Given the description of an element on the screen output the (x, y) to click on. 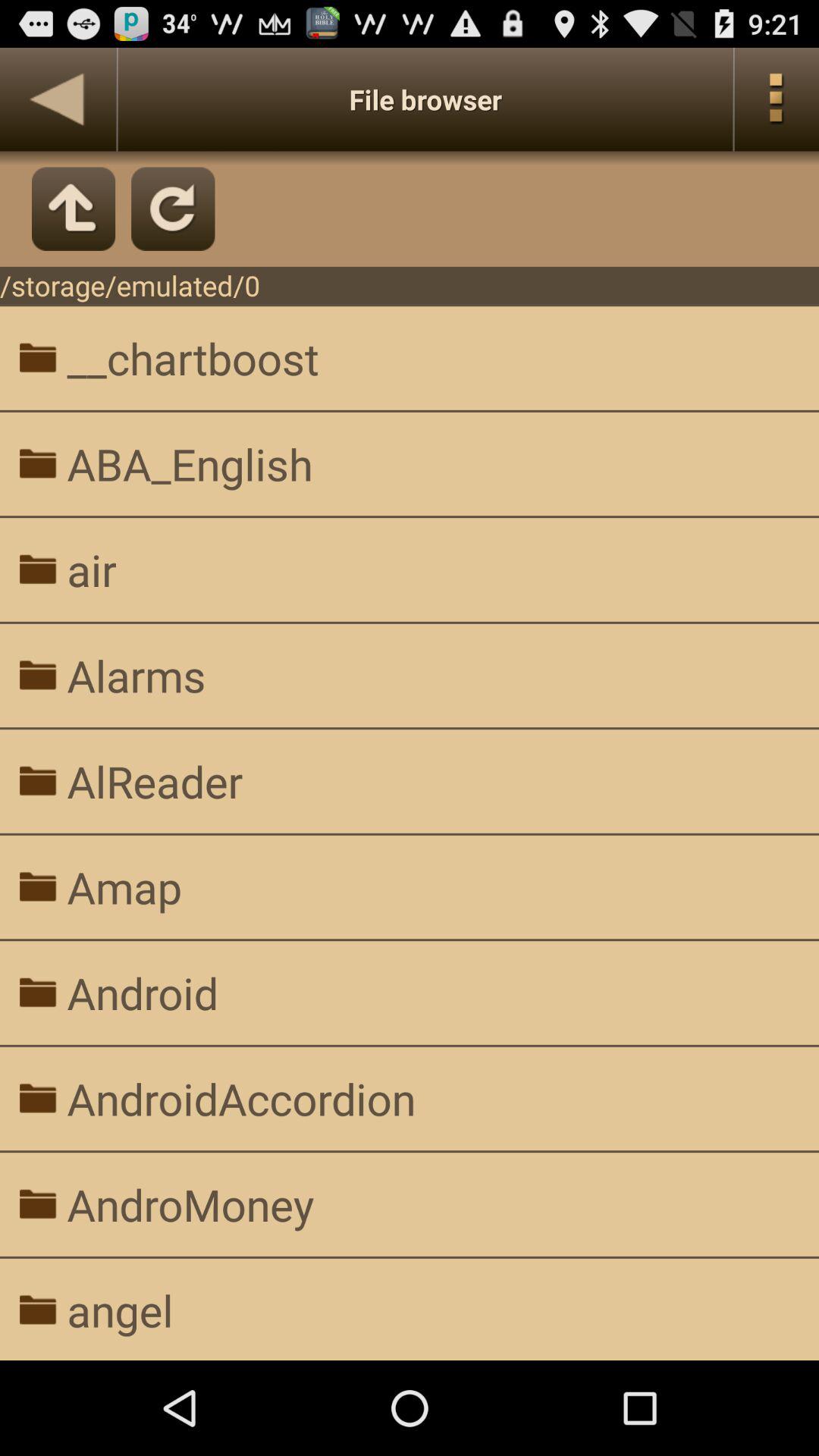
go back (58, 99)
